Given the description of an element on the screen output the (x, y) to click on. 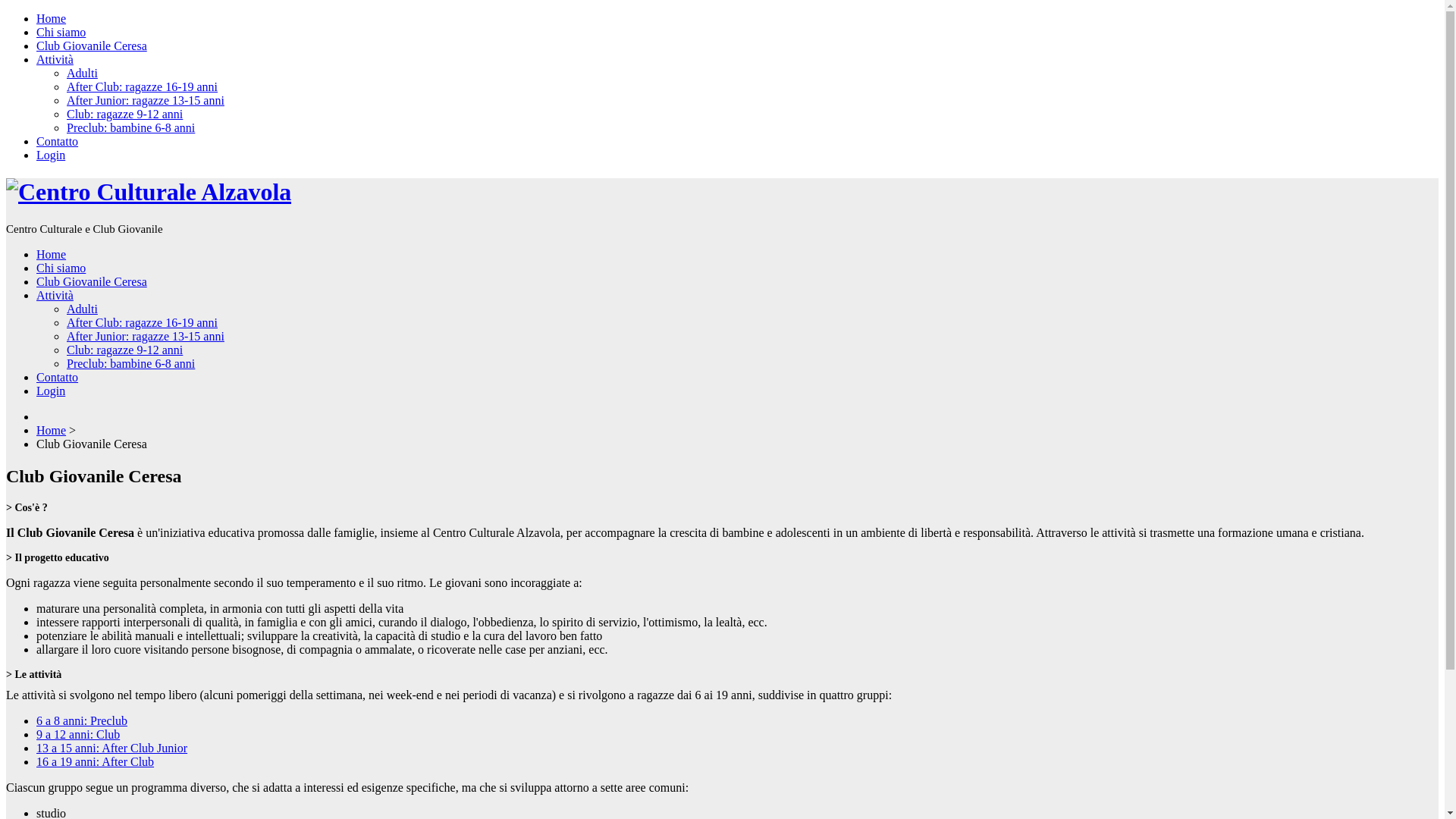
Club Giovanile Ceresa Element type: text (91, 45)
Adulti Element type: text (81, 72)
Preclub: bambine 6-8 anni Element type: text (130, 127)
Home Element type: text (50, 429)
Chi siamo Element type: text (60, 31)
Club: ragazze 9-12 anni Element type: text (124, 113)
After Junior: ragazze 13-15 anni Element type: text (145, 100)
Home Element type: text (50, 253)
Club: ragazze 9-12 anni Element type: text (124, 349)
Adulti Element type: text (81, 308)
After Club: ragazze 16-19 anni Element type: text (141, 322)
9 a 12 anni: Club Element type: text (77, 734)
After Club: ragazze 16-19 anni Element type: text (141, 86)
Contatto Element type: text (57, 140)
Login Element type: text (50, 154)
13 a 15 anni: After Club Junior Element type: text (111, 747)
6 a 8 anni: Preclub Element type: text (81, 720)
Contatto Element type: text (57, 376)
Home Element type: text (50, 18)
Preclub: bambine 6-8 anni Element type: text (130, 363)
Club Giovanile Ceresa Element type: text (91, 281)
After Junior: ragazze 13-15 anni Element type: text (145, 335)
16 a 19 anni: After Club Element type: text (94, 761)
Login Element type: text (50, 390)
Chi siamo Element type: text (60, 267)
